Given the description of an element on the screen output the (x, y) to click on. 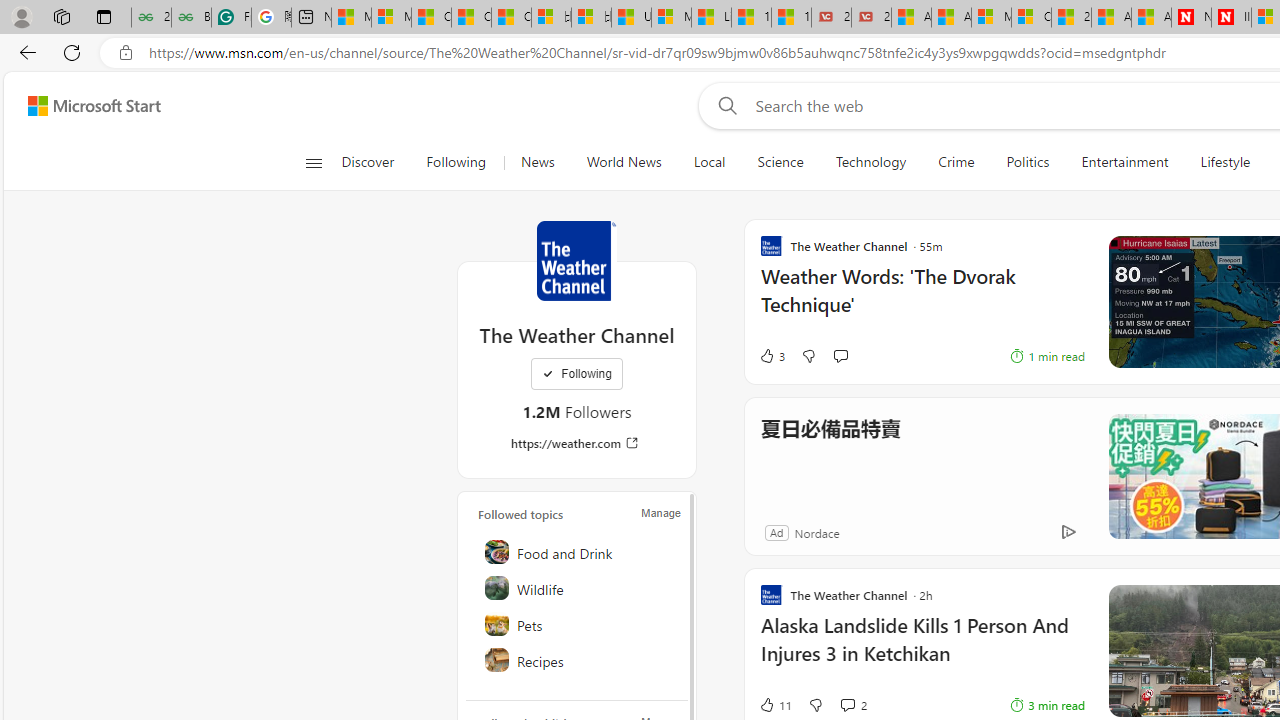
USA TODAY - MSN (631, 17)
3 Like (771, 355)
The Weather Channel (576, 260)
Food and Drink (578, 551)
11 Like (775, 704)
